Given the description of an element on the screen output the (x, y) to click on. 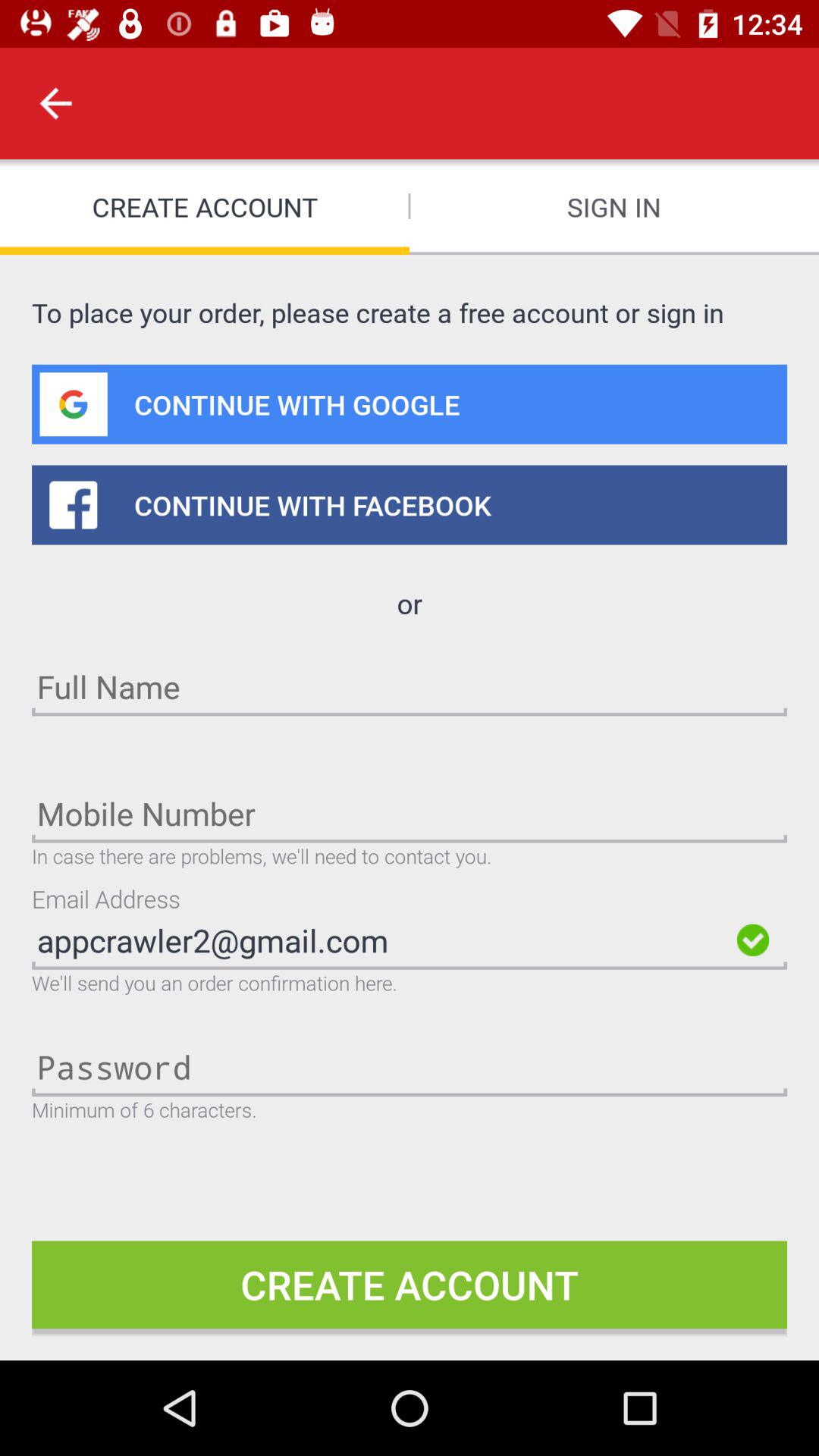
select icon next to the sign in (55, 103)
